Given the description of an element on the screen output the (x, y) to click on. 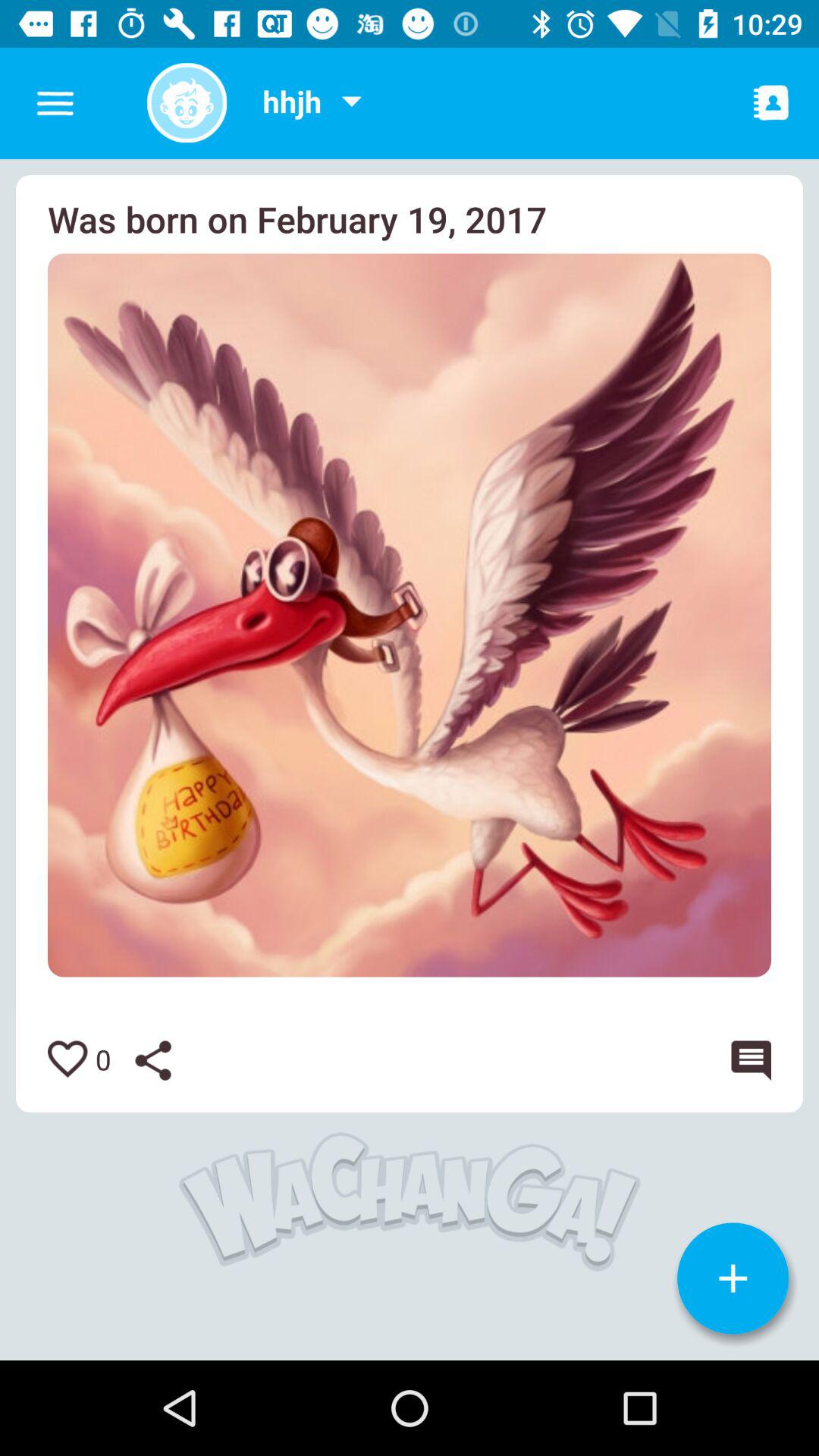
share picture (165, 1060)
